Given the description of an element on the screen output the (x, y) to click on. 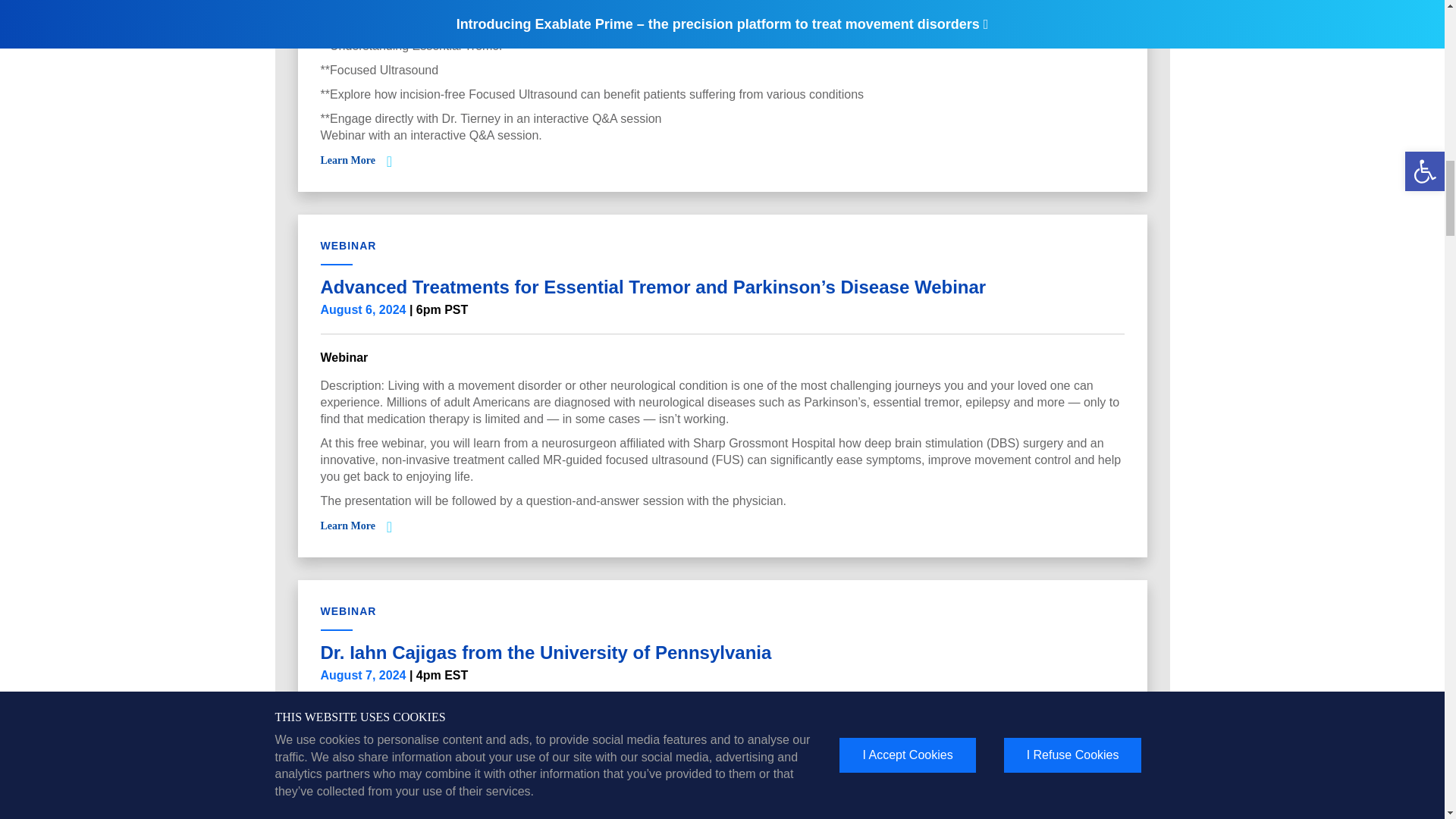
Learn More (347, 792)
Learn More (347, 525)
Learn More (347, 160)
